Given the description of an element on the screen output the (x, y) to click on. 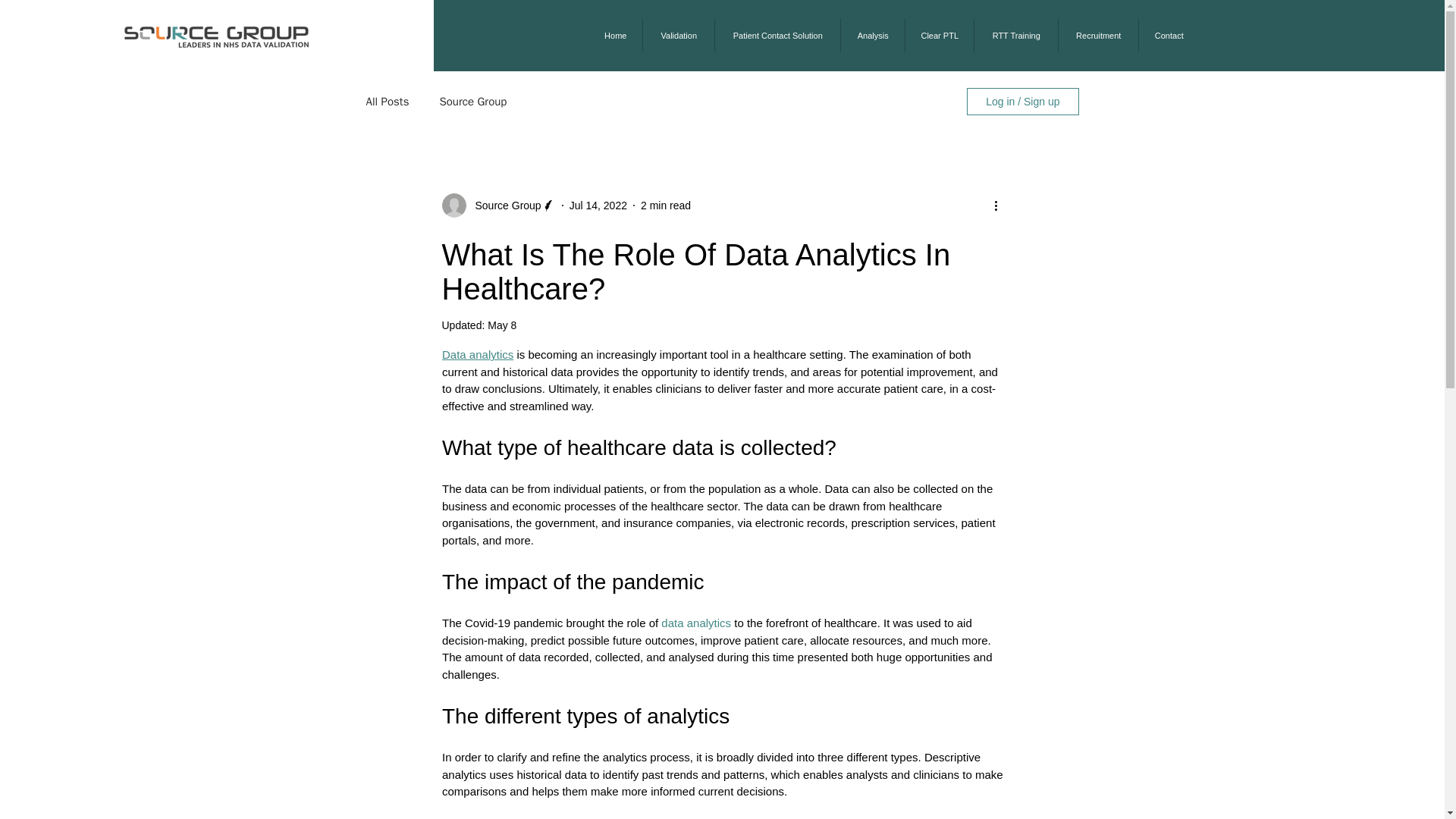
May 8 (501, 325)
Recruitment (1098, 35)
Source Group (472, 101)
Jul 14, 2022 (598, 204)
Contact (1168, 35)
data analytics (695, 622)
2 min read (665, 204)
RTT Training (1016, 35)
Validation (678, 35)
Clear PTL (939, 35)
Data analytics (476, 354)
All Posts (387, 101)
Home (615, 35)
Analysis (872, 35)
Source Group (502, 204)
